Given the description of an element on the screen output the (x, y) to click on. 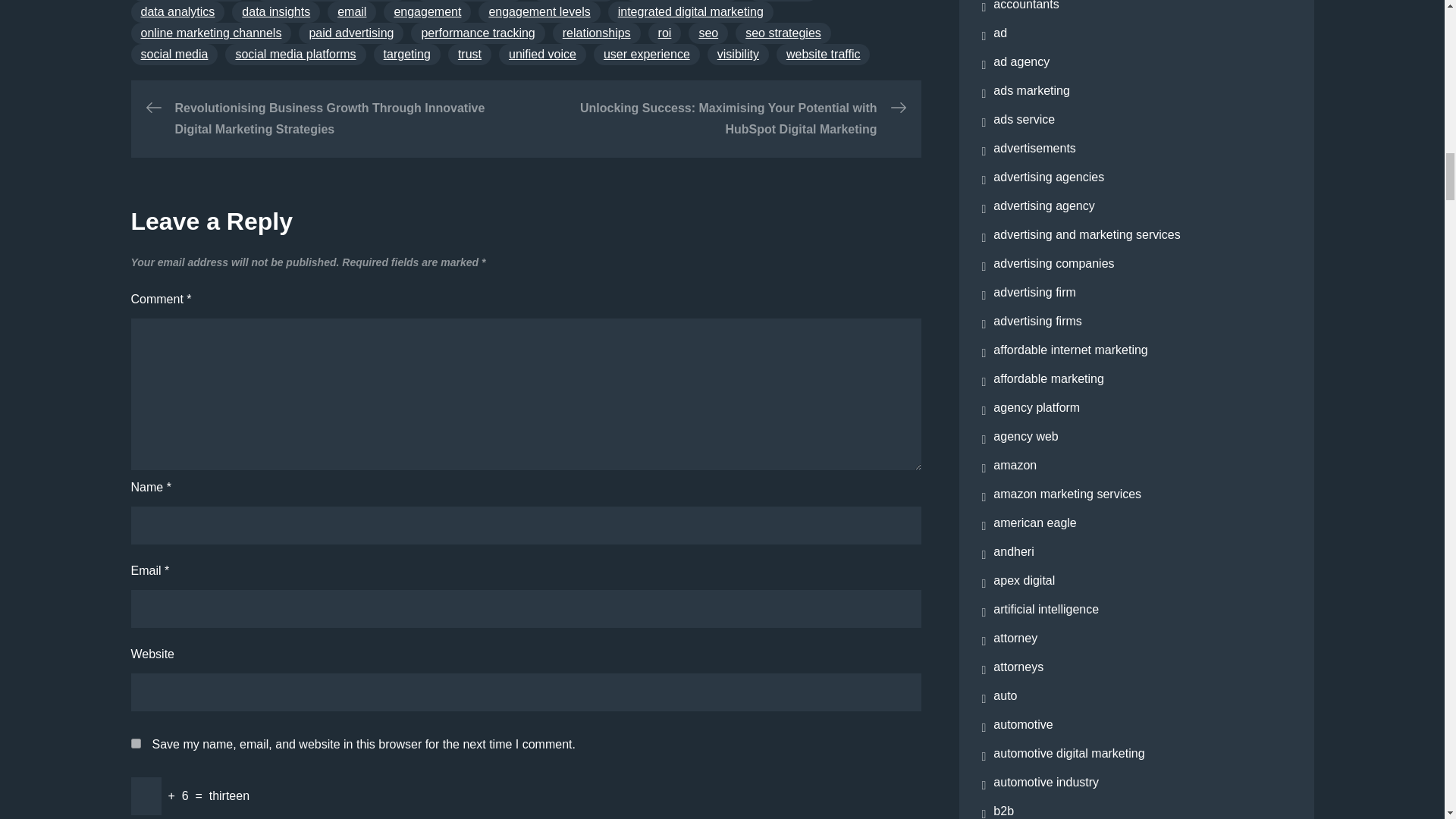
cost-effectiveness (681, 0)
data analytics (177, 11)
credibility (783, 0)
yes (135, 743)
integrated digital marketing (690, 11)
content marketing (188, 0)
email (351, 11)
engagement (427, 11)
conversion rates (468, 0)
conversions (573, 0)
data insights (275, 11)
engagement levels (539, 11)
